Given the description of an element on the screen output the (x, y) to click on. 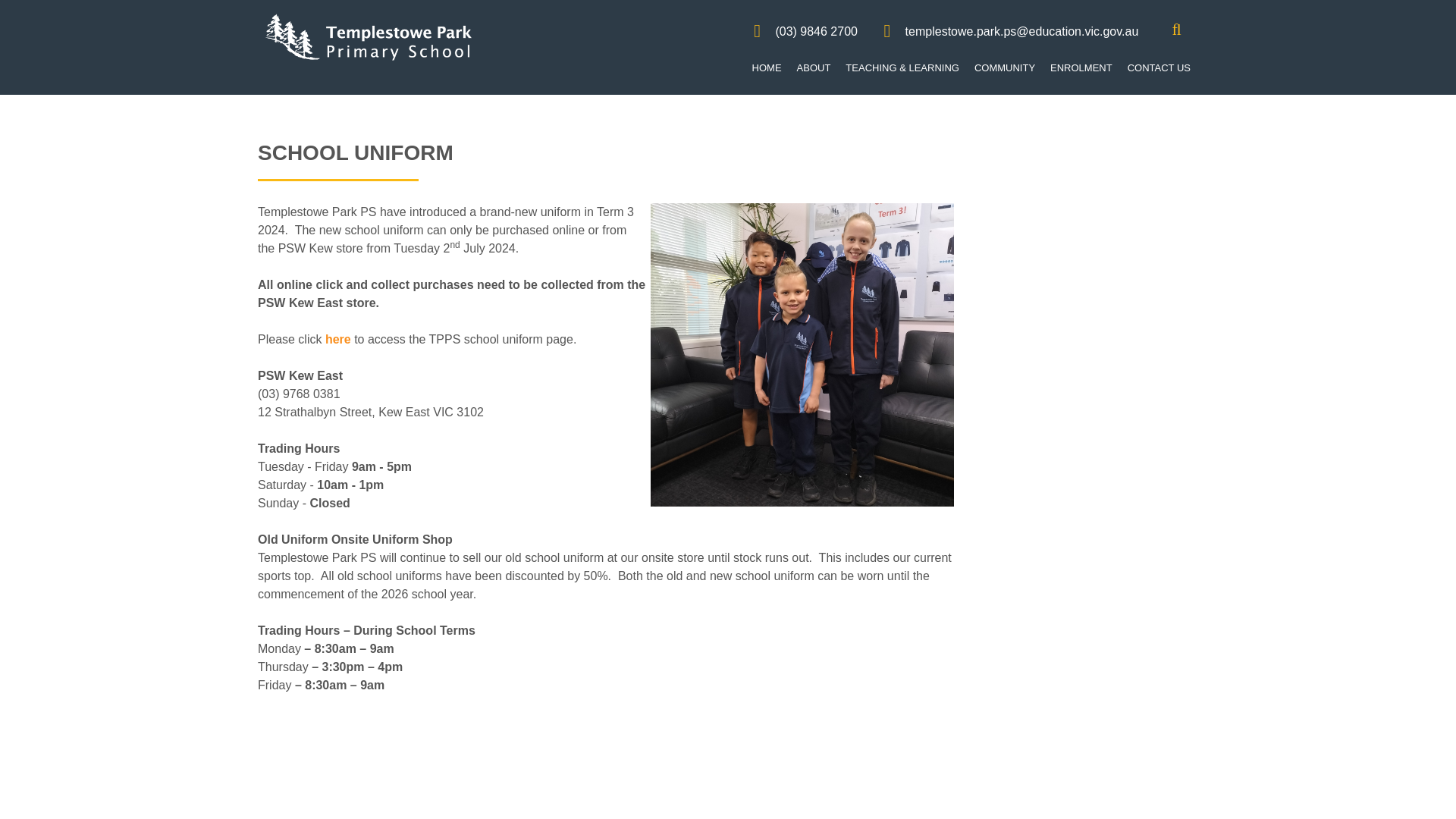
ABOUT (813, 68)
HOME (766, 68)
COMMUNITY (1004, 68)
